Given the description of an element on the screen output the (x, y) to click on. 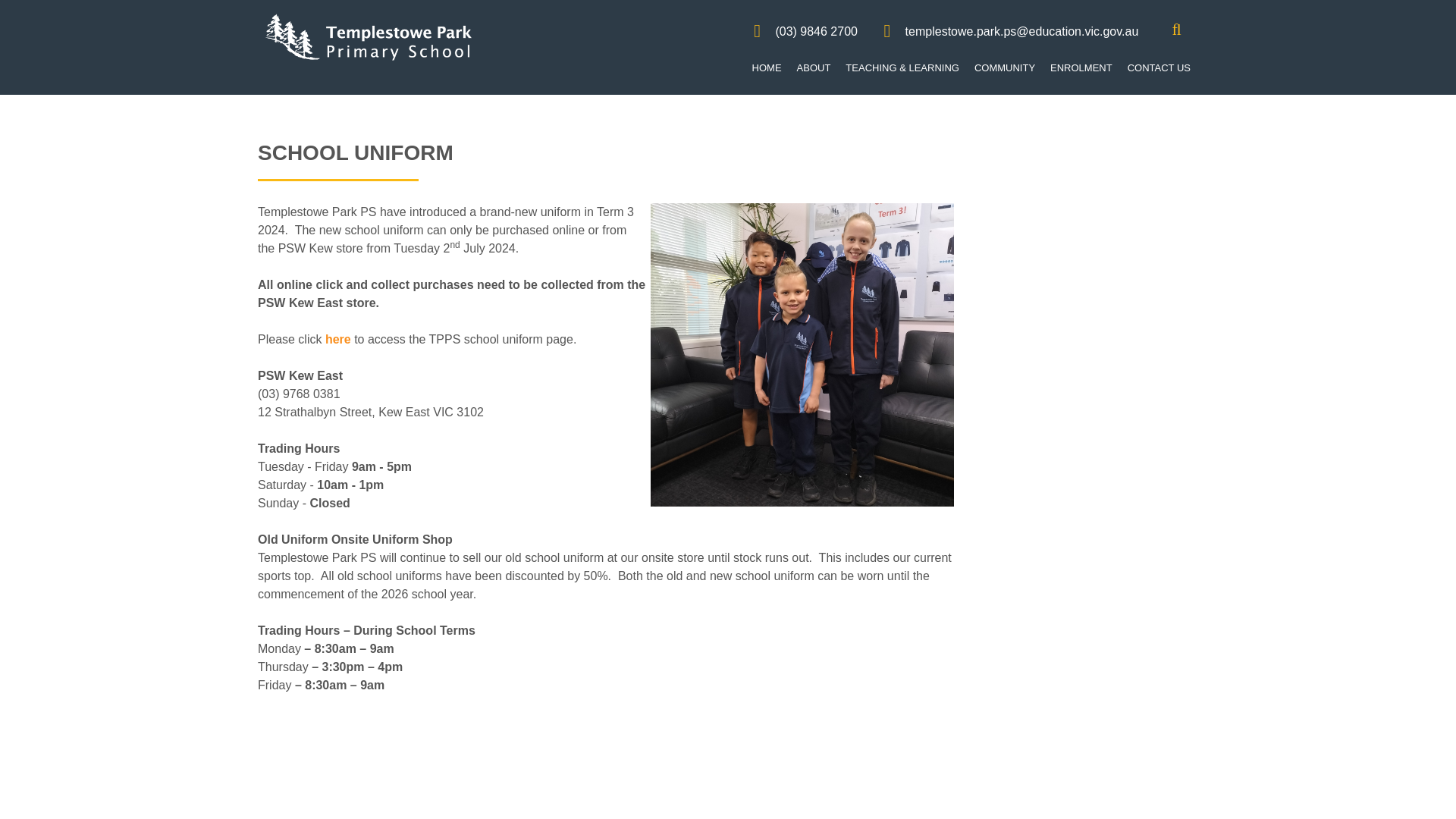
ABOUT (813, 68)
HOME (766, 68)
COMMUNITY (1004, 68)
